Given the description of an element on the screen output the (x, y) to click on. 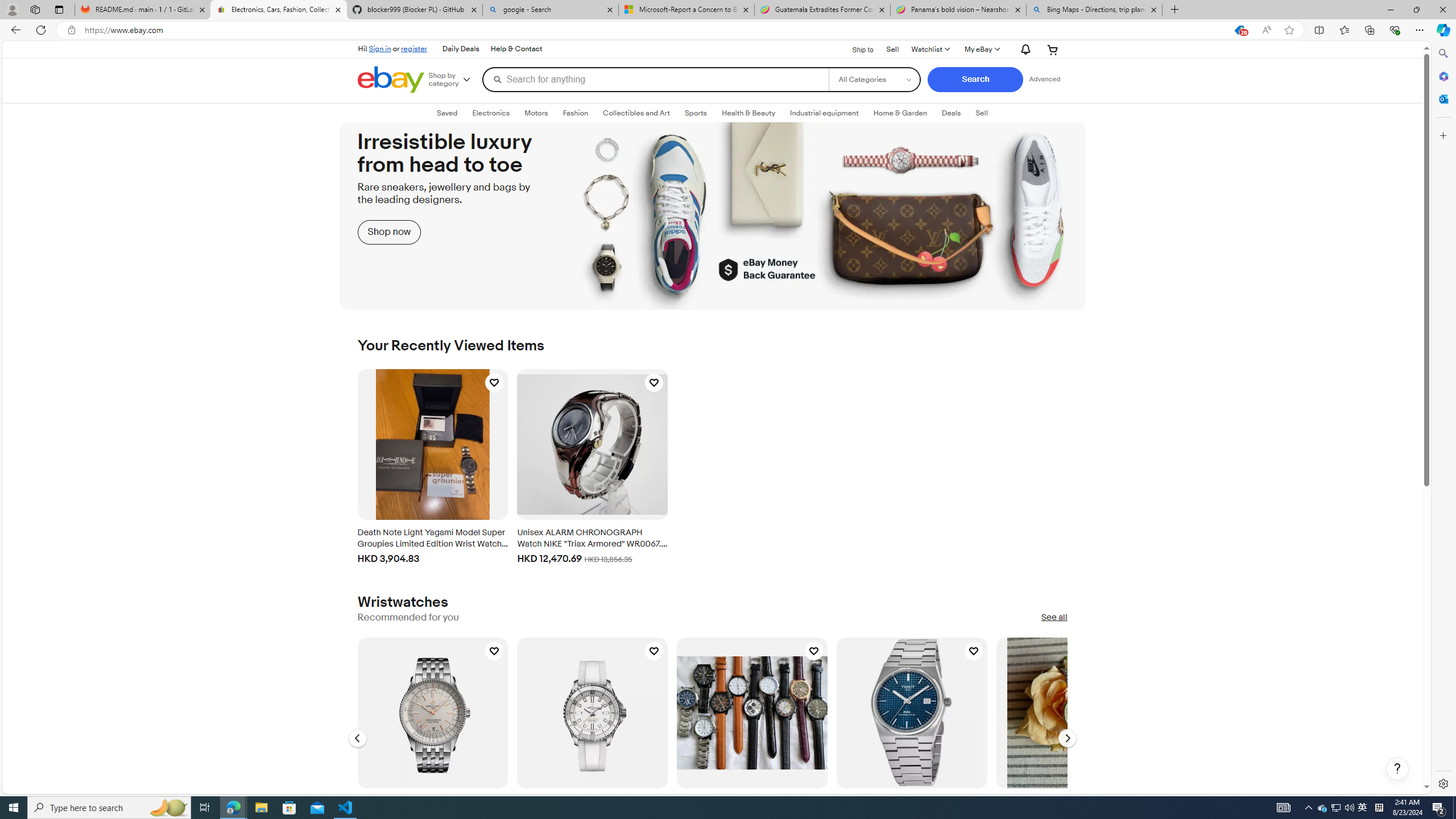
This site has coupons! Shopping in Microsoft Edge, 20 (1239, 29)
Expand Cart (1052, 49)
My eBayExpand My eBay (981, 49)
See all (1054, 617)
AutomationID: gh-eb-Alerts (1023, 49)
Fashion (575, 112)
